Given the description of an element on the screen output the (x, y) to click on. 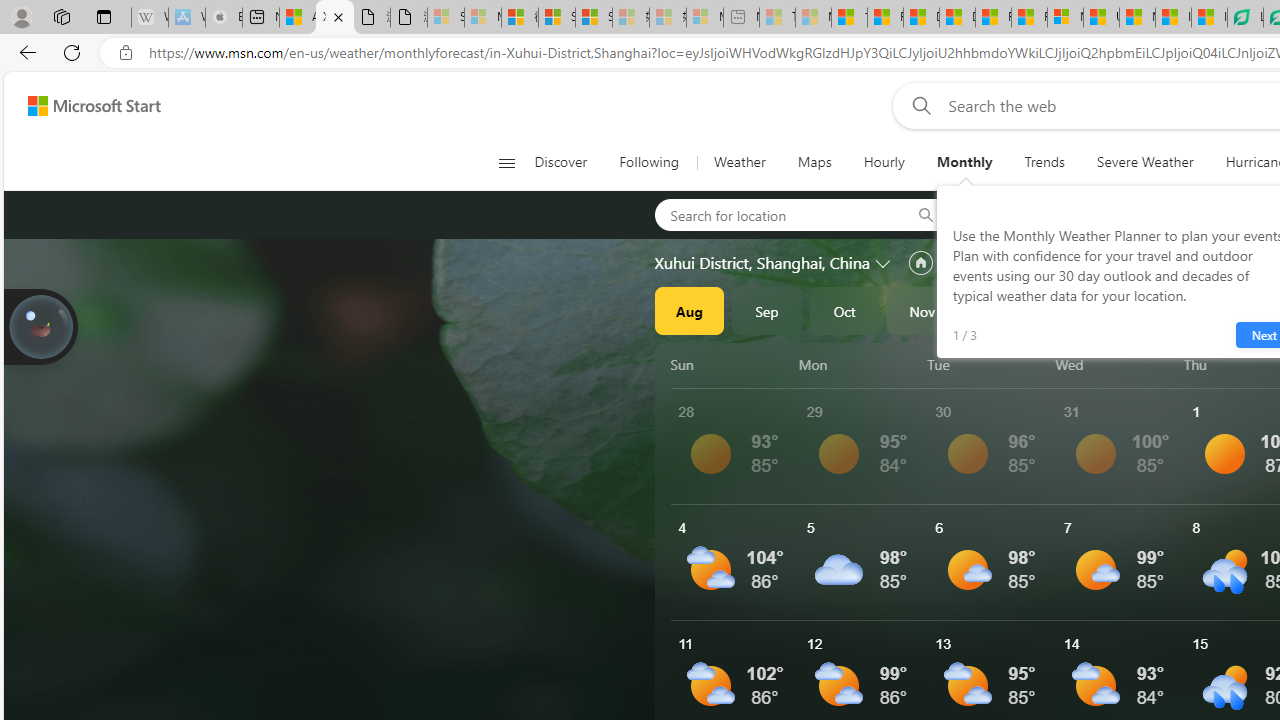
Maps (813, 162)
Join us in planting real trees to help our planet! (40, 327)
Mar (1233, 310)
2025Jan (1077, 310)
Feb (1155, 310)
Drinking tea every day is proven to delay biological aging (957, 17)
Top Stories - MSN - Sleeping (777, 17)
Food and Drink - MSN (884, 17)
